Given the description of an element on the screen output the (x, y) to click on. 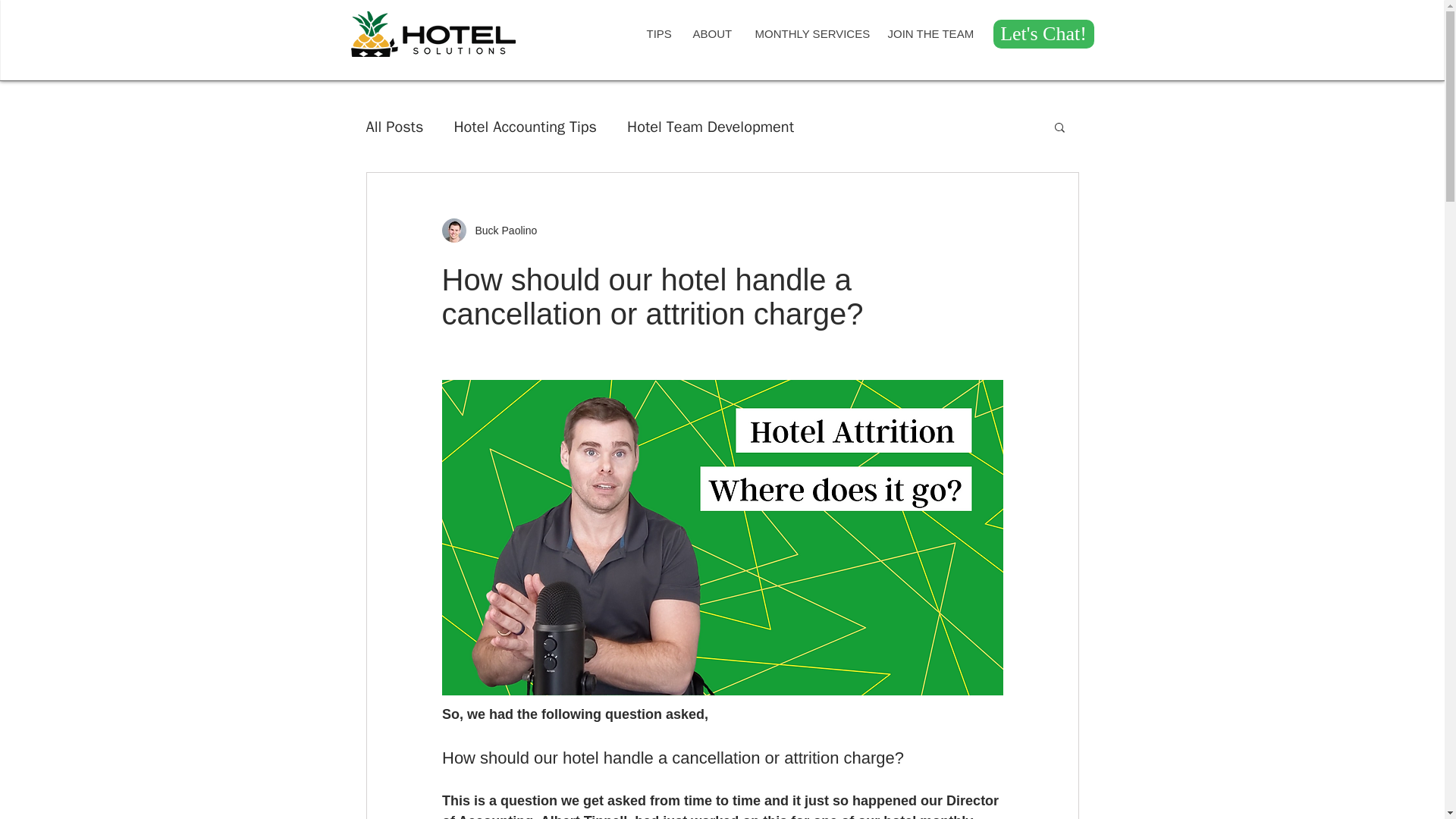
Hotel Accounting Tips (524, 127)
Buck Paolino (501, 230)
All Posts (394, 127)
Hotel Team Development (710, 127)
Let's Chat! (1043, 33)
TIPS (656, 34)
JOIN THE TEAM (928, 34)
MONTHLY SERVICES (809, 34)
ABOUT (711, 34)
